Given the description of an element on the screen output the (x, y) to click on. 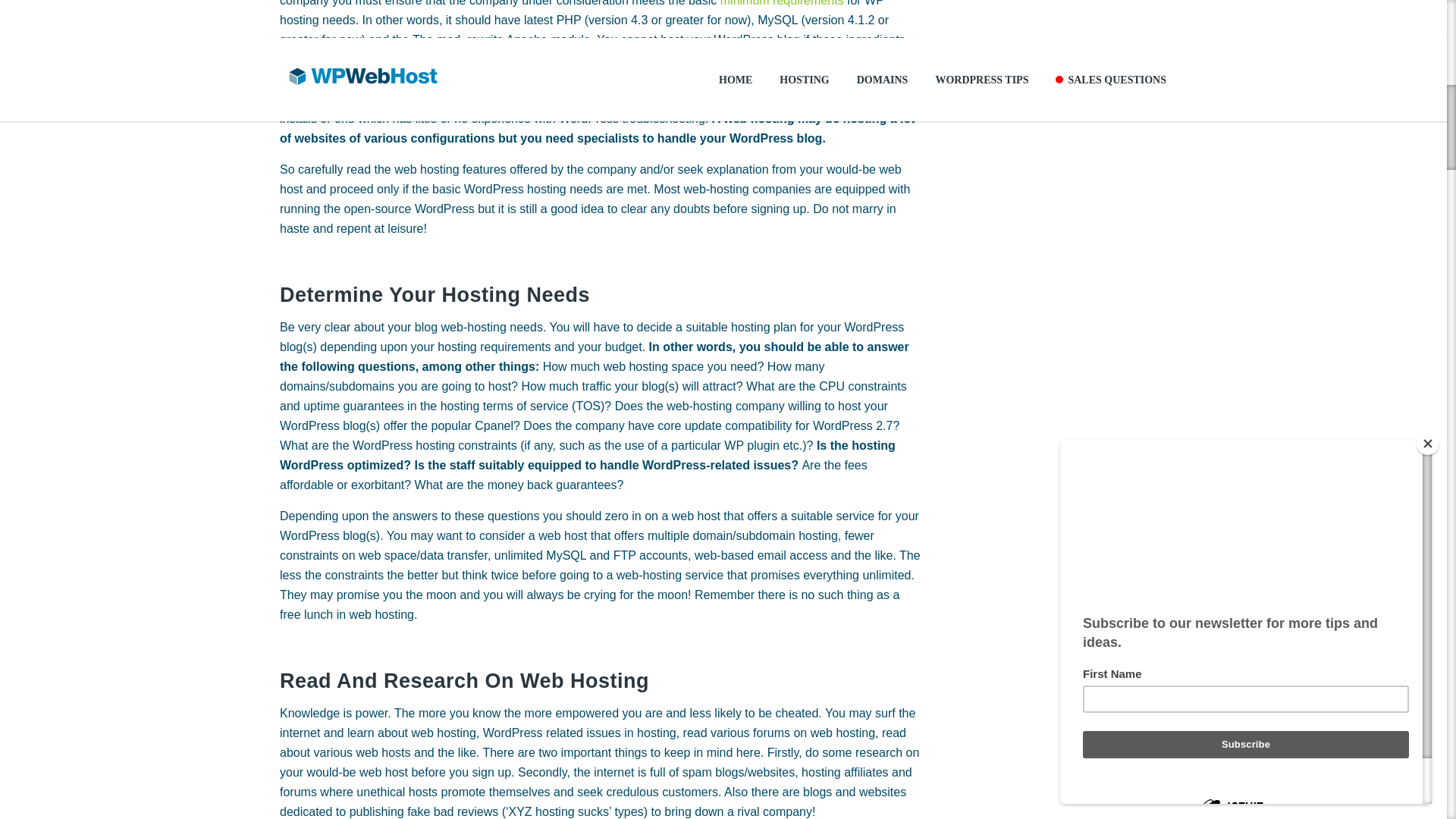
minimum requirements (782, 3)
WP hosting basic requirements (782, 3)
